Given the description of an element on the screen output the (x, y) to click on. 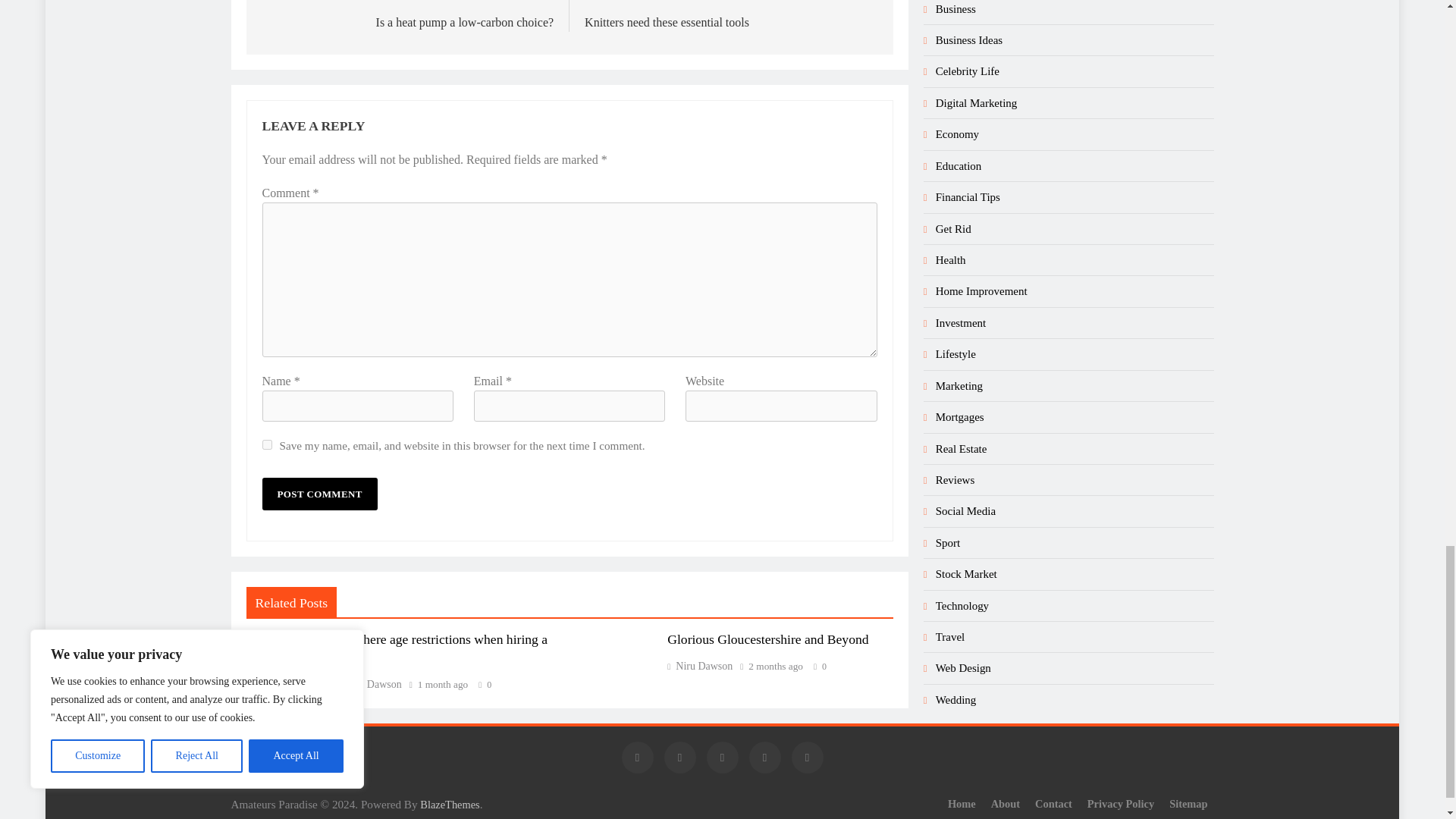
yes (267, 444)
Post Comment (319, 493)
